Given the description of an element on the screen output the (x, y) to click on. 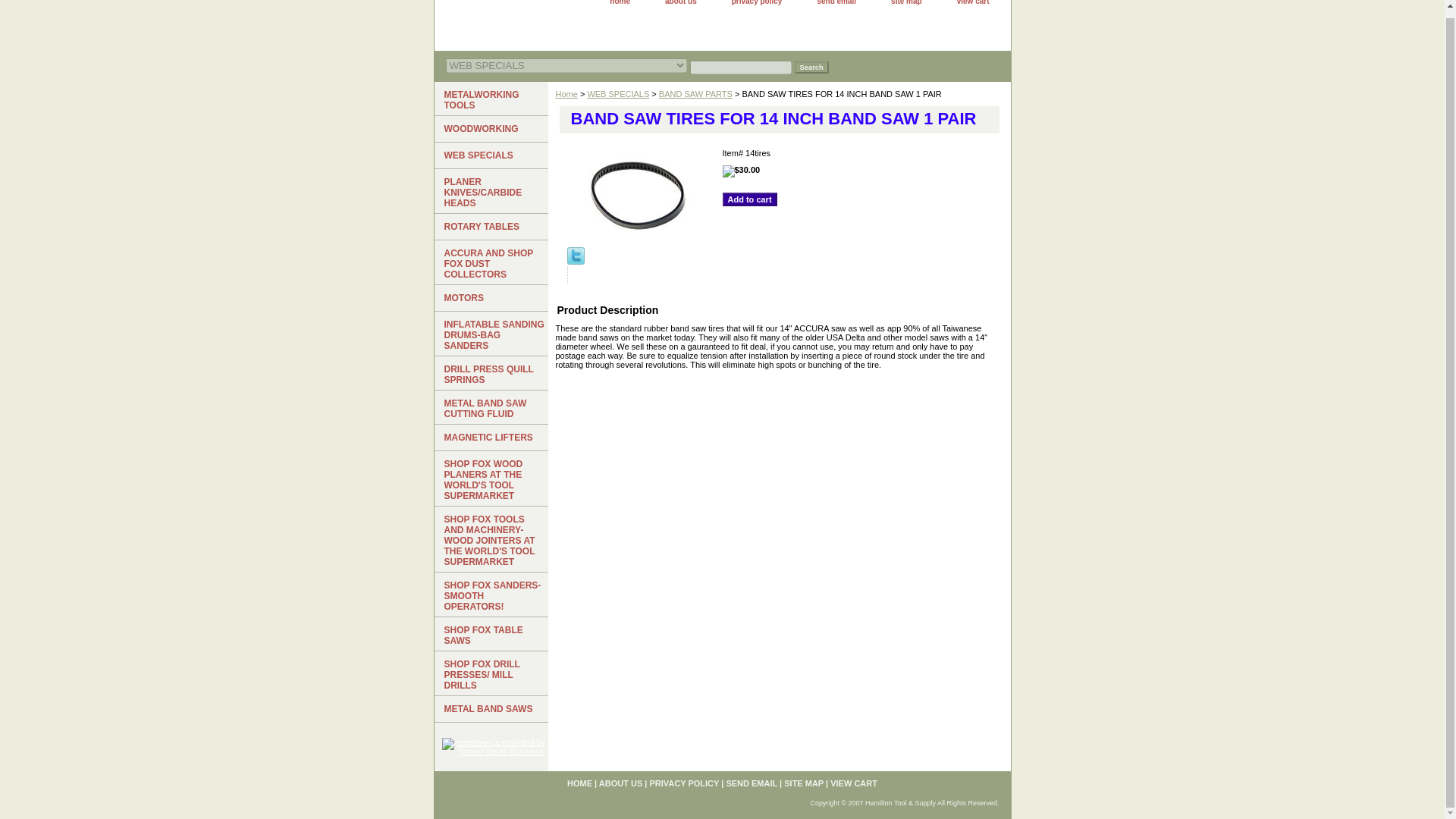
site map (906, 4)
about us (680, 4)
DRILL PRESS QUILL SPRINGS (490, 373)
WOODWORKING (490, 129)
INFLATABLE SANDING DRUMS-BAG SANDERS (490, 334)
METAL BAND SAWS (490, 709)
SHOP FOX WOOD PLANERS AT THE WORLD'S TOOL SUPERMARKET (490, 478)
ROTARY TABLES (490, 226)
INFLATABLE SANDING DRUMS-BAG SANDERS (490, 334)
